Given the description of an element on the screen output the (x, y) to click on. 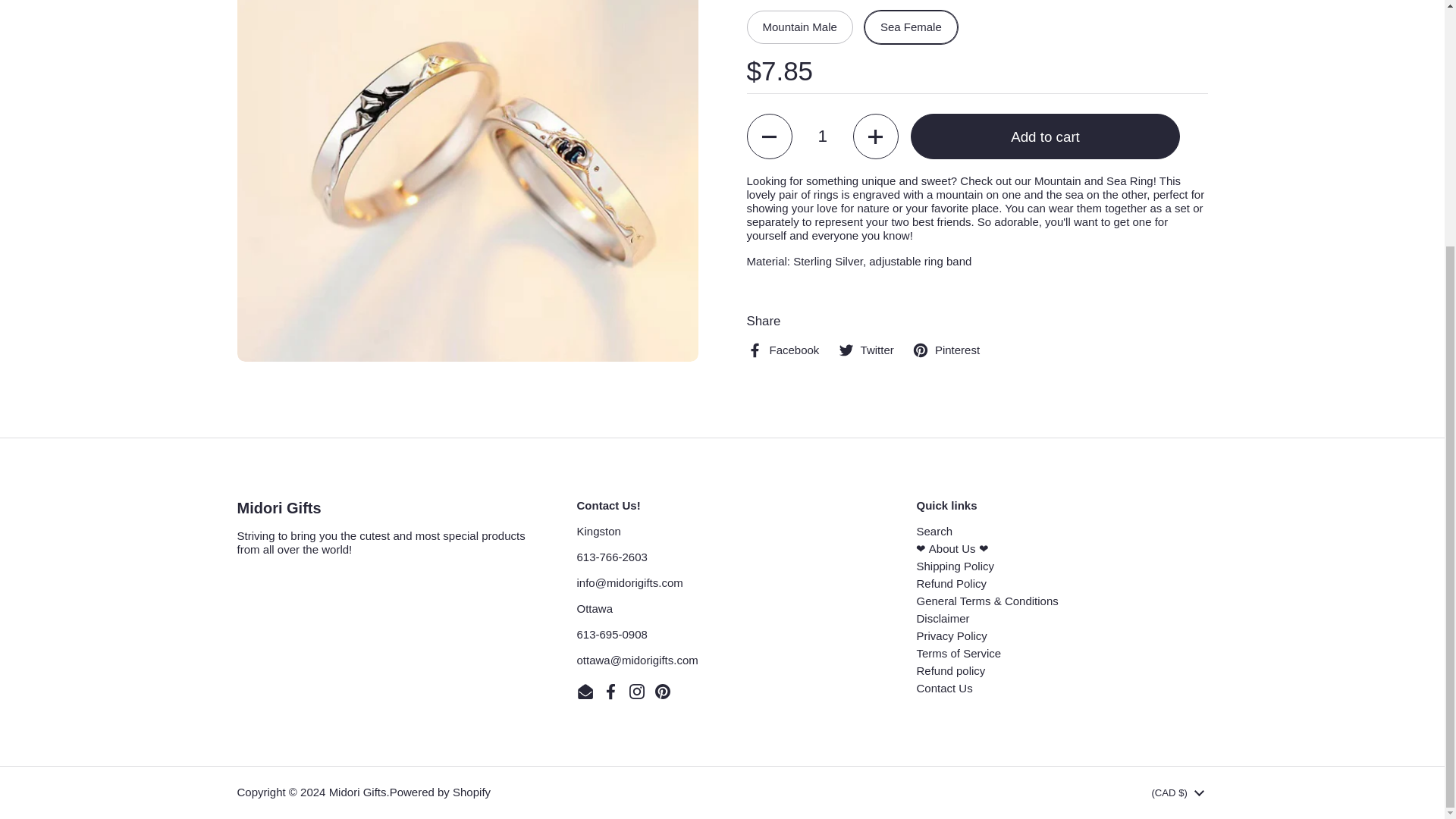
1 (822, 135)
Share on pinterest (945, 349)
Share on facebook (781, 349)
Share on twitter (865, 349)
